Given the description of an element on the screen output the (x, y) to click on. 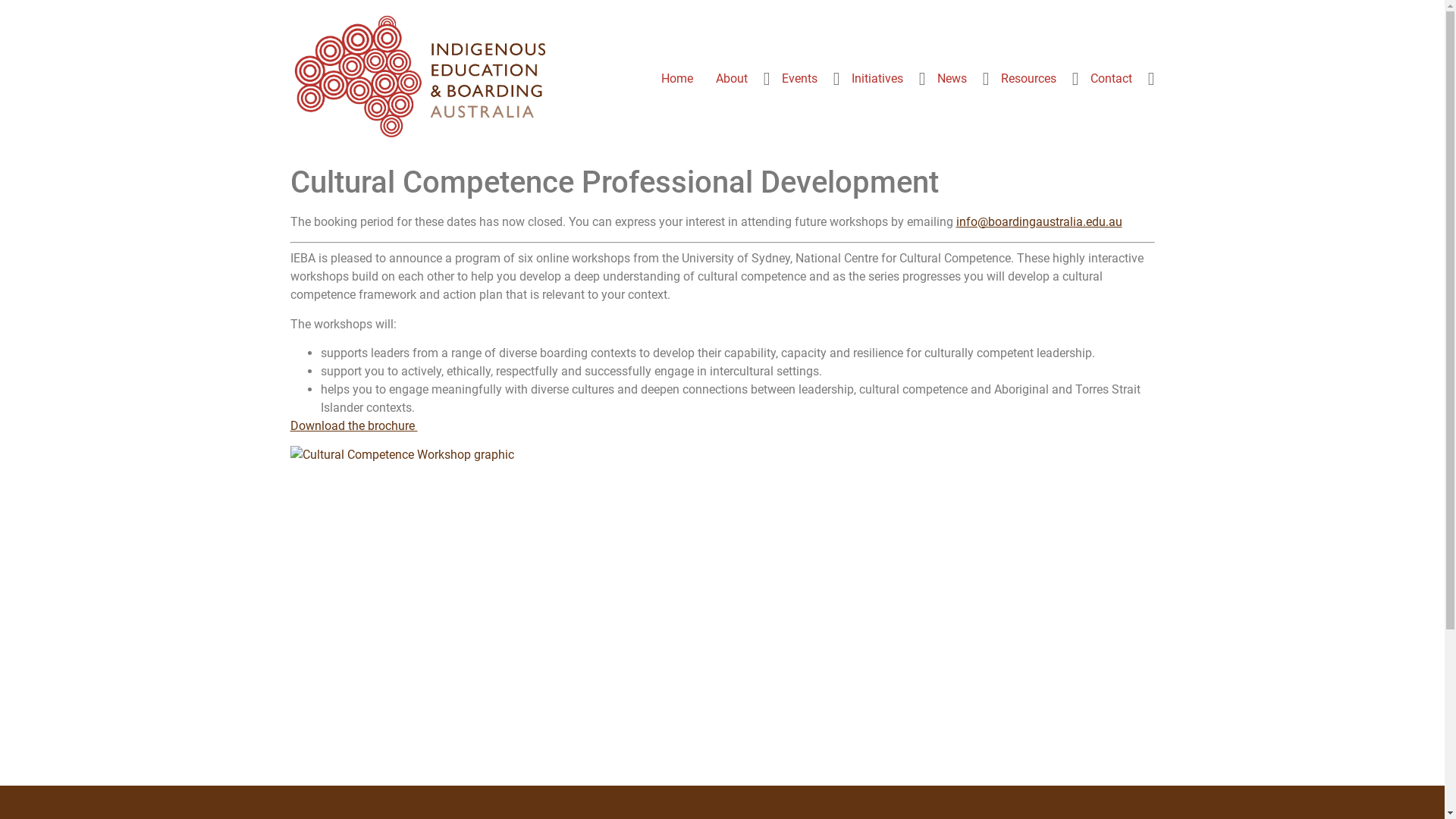
News Element type: text (951, 78)
info@boardingaustralia.edu.au Element type: text (1038, 221)
Contact Element type: text (1110, 78)
About Element type: text (730, 78)
Events Element type: text (799, 78)
Resources Element type: text (1027, 78)
Home Element type: text (722, 182)
Initiatives Element type: text (877, 78)
Download the brochure  Element type: text (353, 425)
Home Element type: text (676, 78)
